Given the description of an element on the screen output the (x, y) to click on. 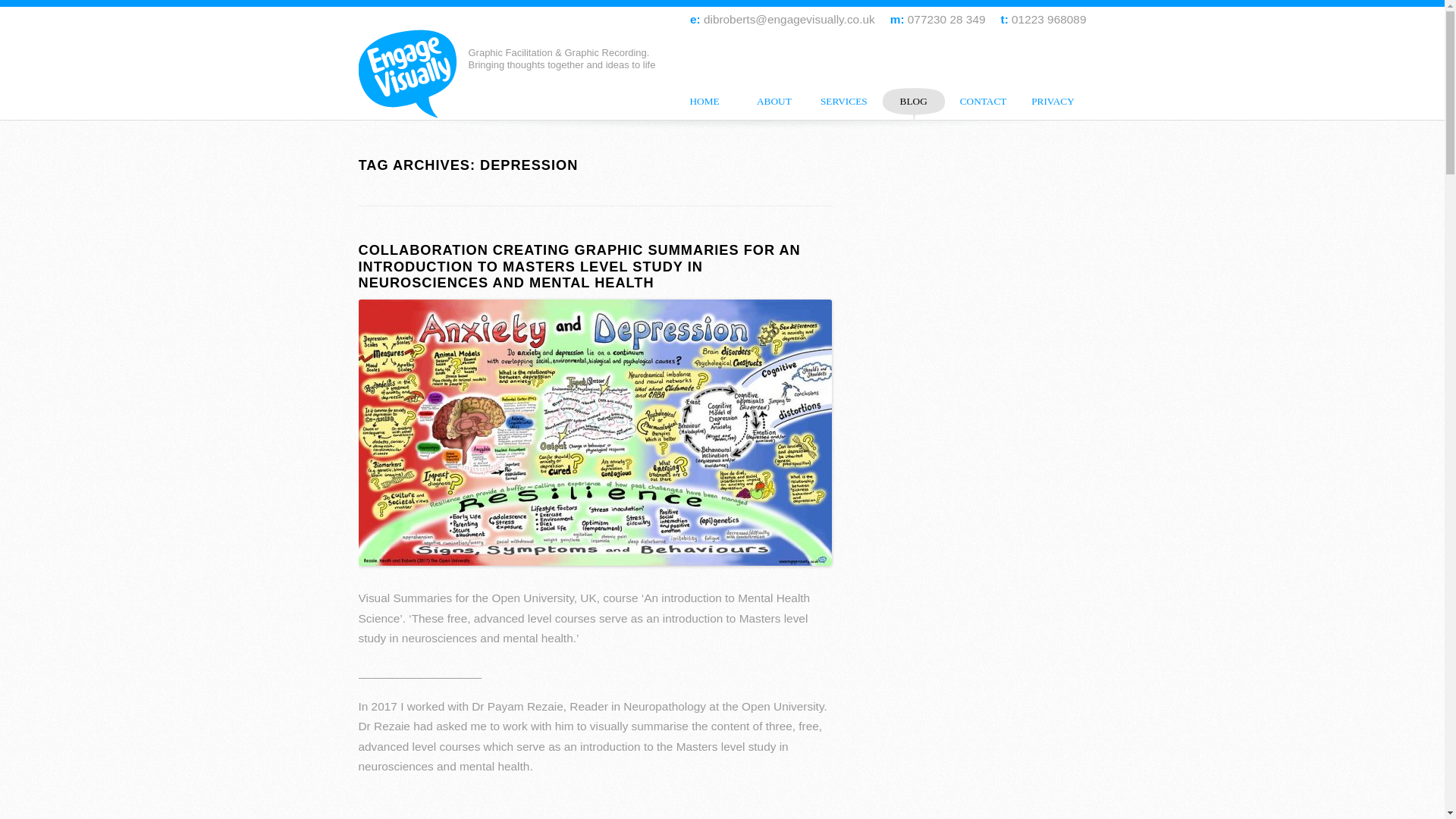
CONTACT (983, 100)
ABOUT (774, 100)
Engage Visually (412, 73)
BLOG (913, 100)
HOME (704, 100)
Engage Visually (412, 73)
